Given the description of an element on the screen output the (x, y) to click on. 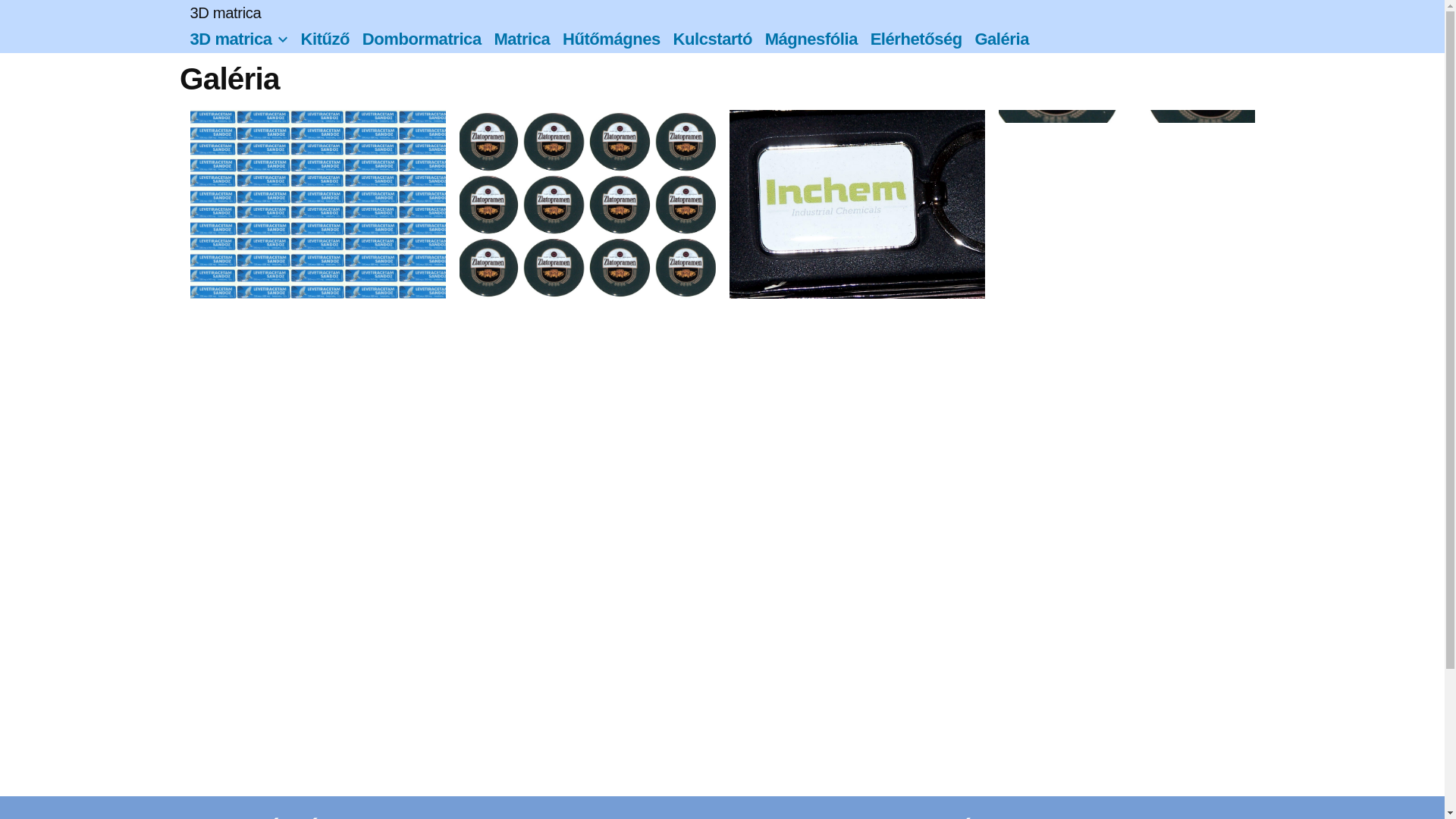
Matrica Element type: text (521, 38)
3D matrica Element type: text (224, 12)
Dombormatrica Element type: text (421, 38)
3D matrica Element type: text (230, 38)
